Given the description of an element on the screen output the (x, y) to click on. 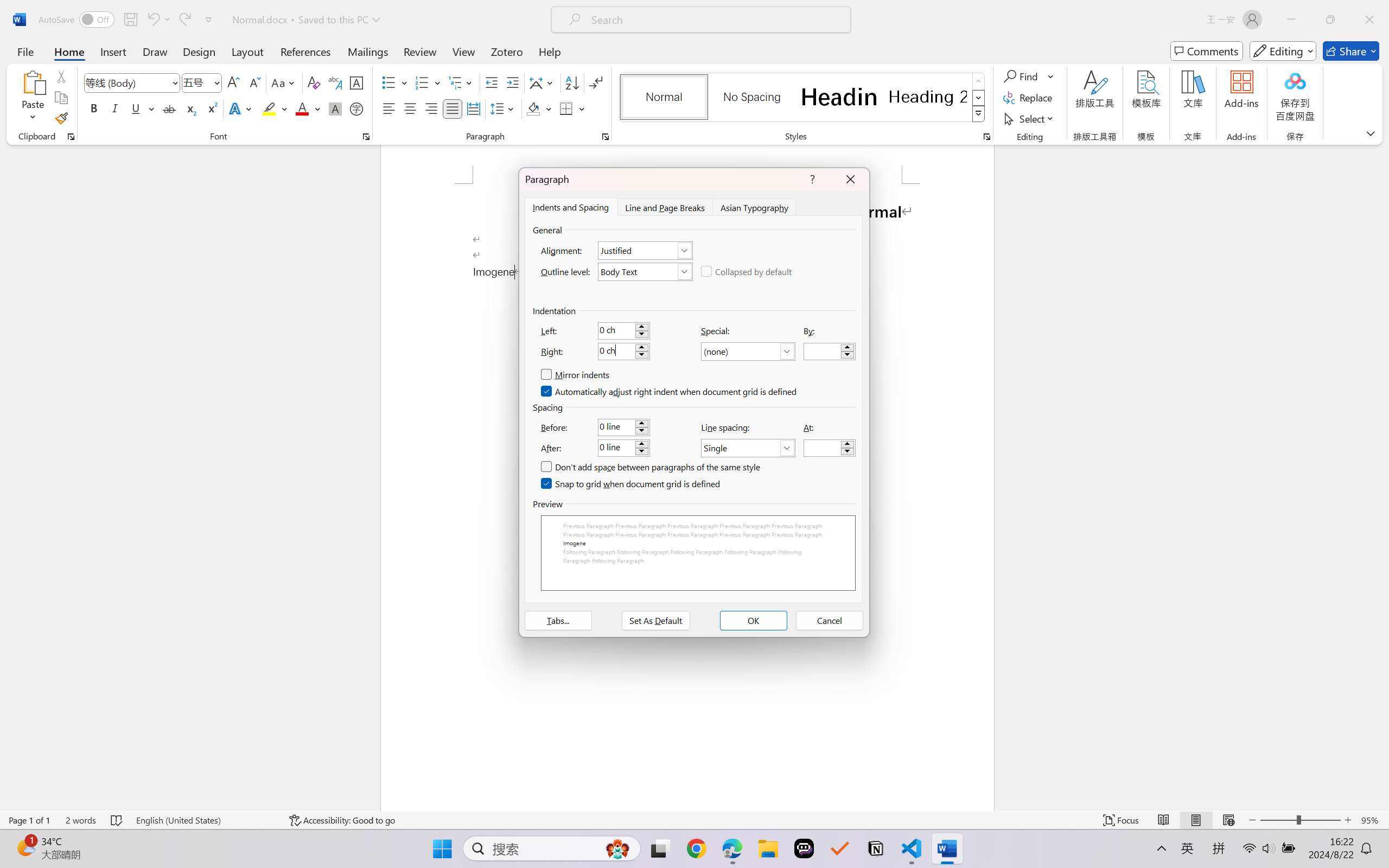
Row Down (978, 97)
Styles... (986, 136)
Phonetic Guide... (334, 82)
Open (215, 82)
Italic (115, 108)
OK (753, 620)
